Given the description of an element on the screen output the (x, y) to click on. 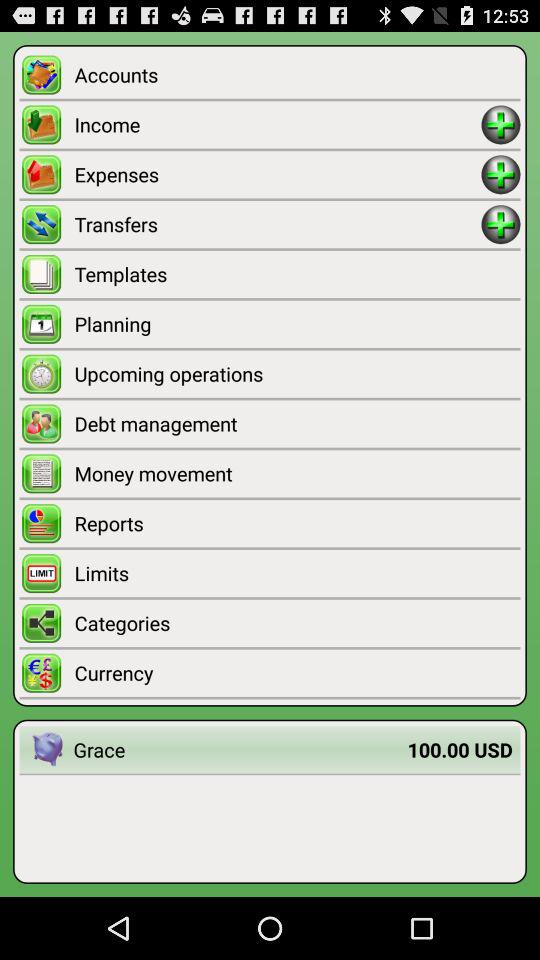
tap app to the left of the grace item (46, 749)
